Given the description of an element on the screen output the (x, y) to click on. 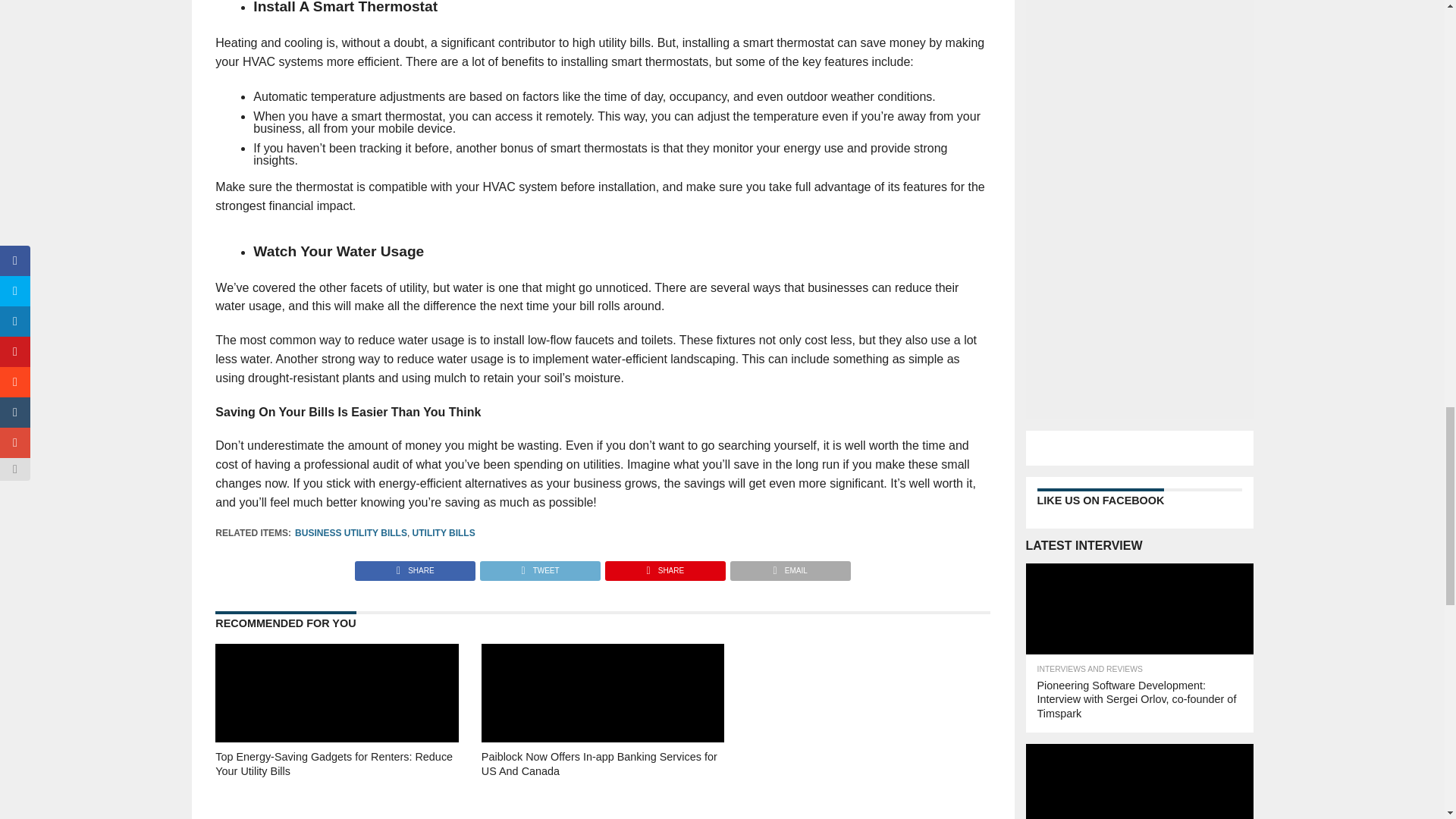
Share on Facebook (415, 566)
Tweet This Post (539, 566)
Pin This Post (664, 566)
